Given the description of an element on the screen output the (x, y) to click on. 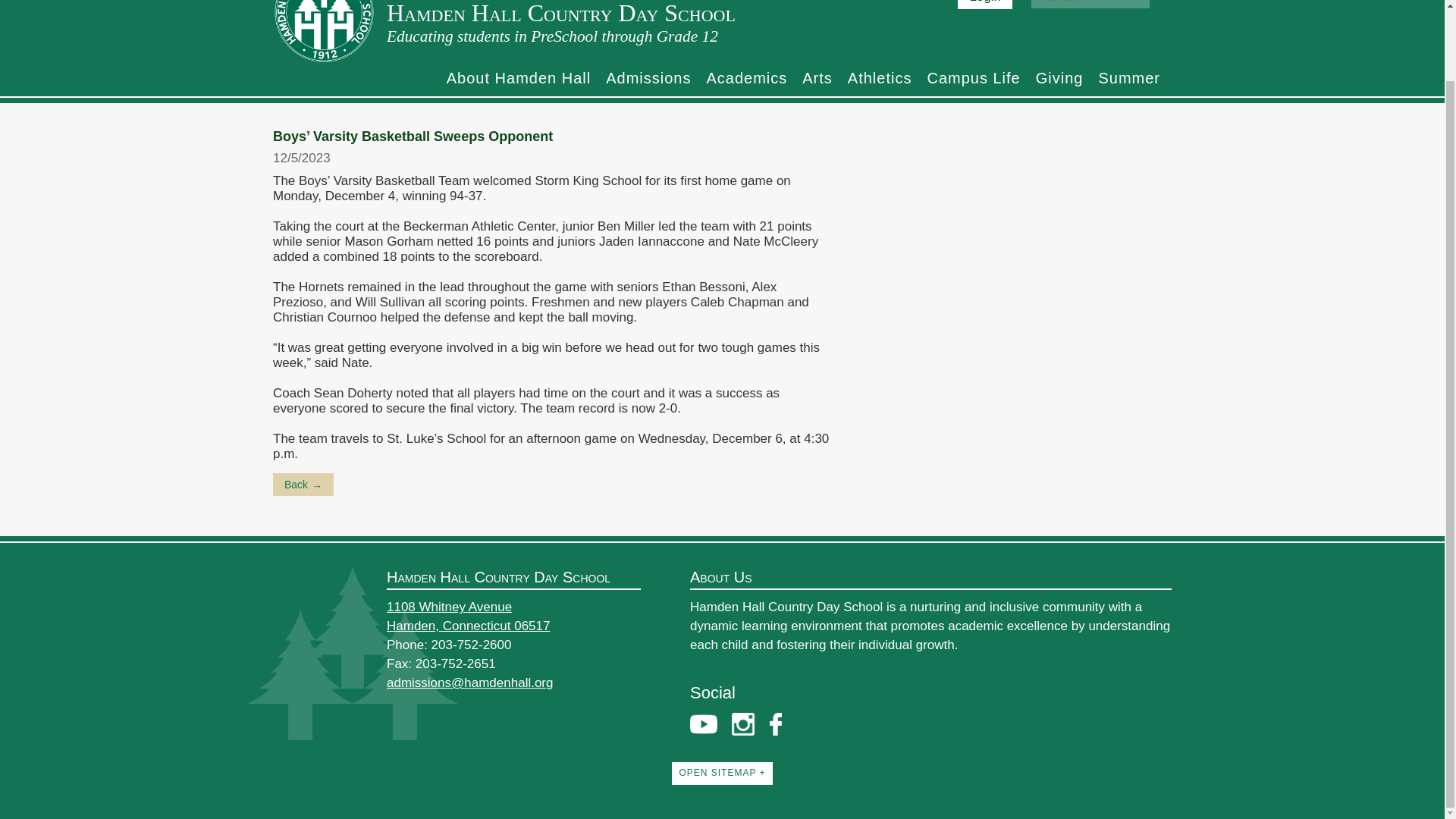
open or close this sitemap (721, 772)
